Given the description of an element on the screen output the (x, y) to click on. 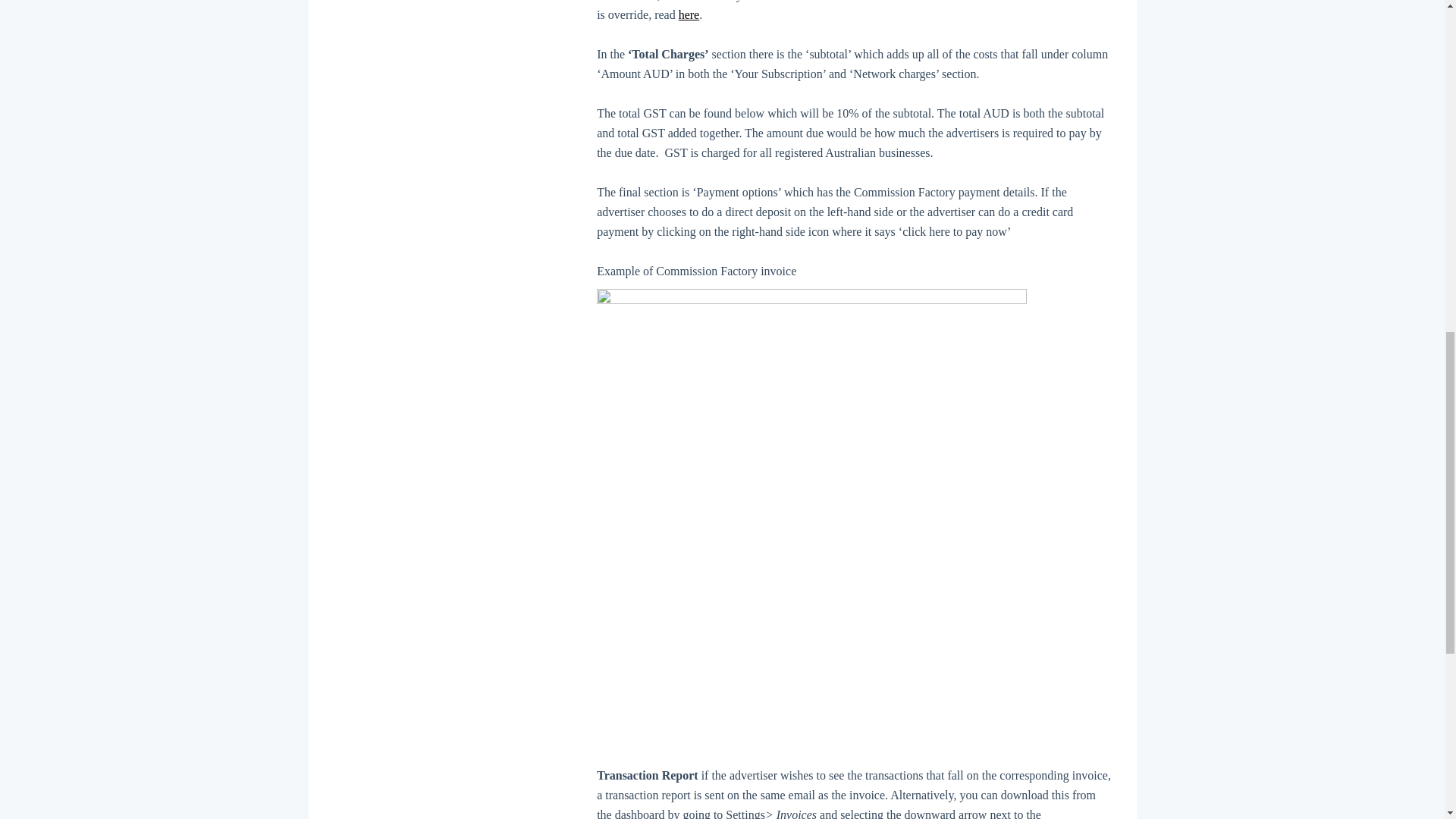
here (689, 14)
